Given the description of an element on the screen output the (x, y) to click on. 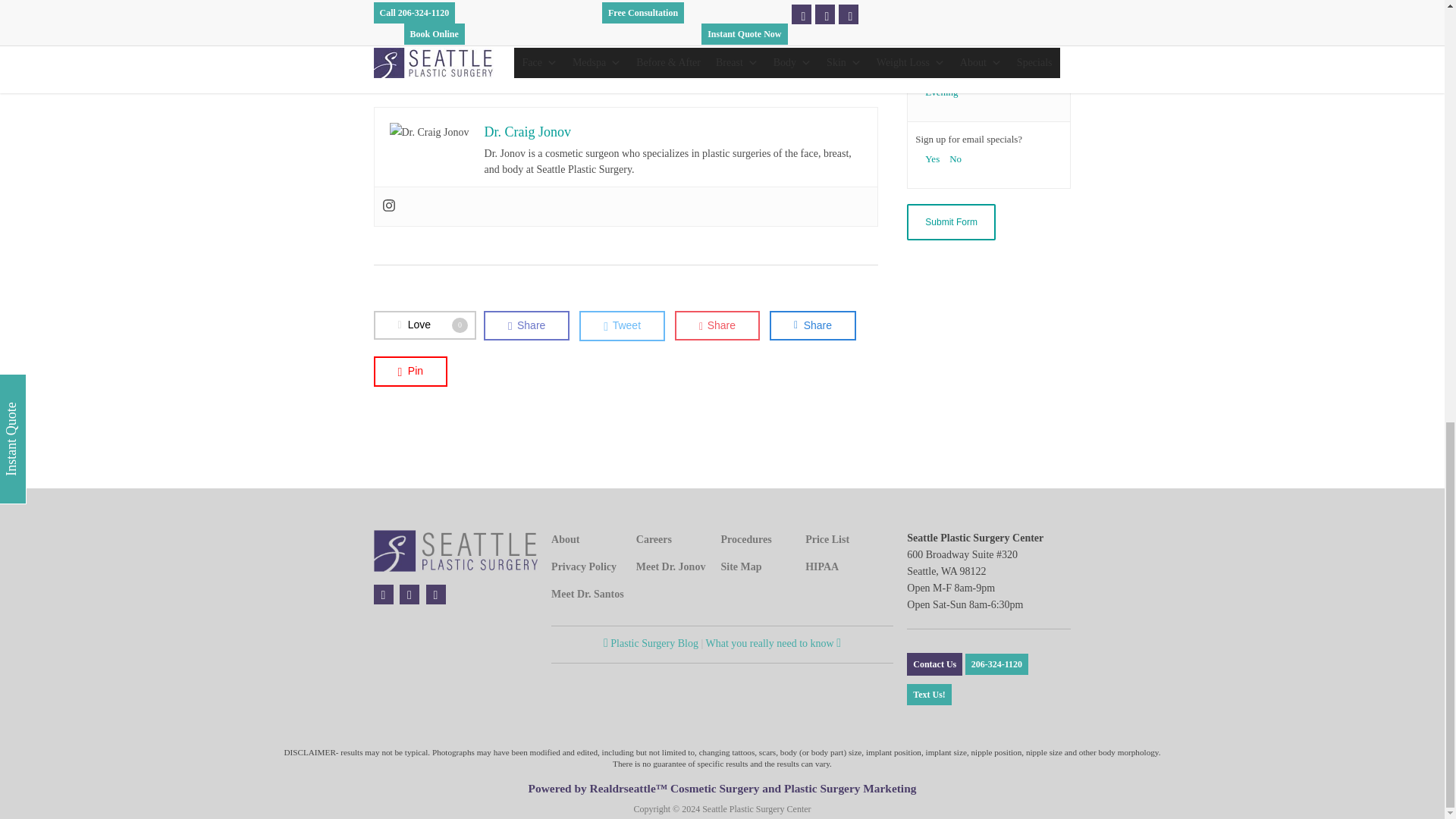
Share this (813, 325)
Love this (424, 325)
Submit Form (951, 221)
Pin this (409, 370)
Share this (526, 325)
Share this (717, 325)
Tweet this (622, 326)
